Given the description of an element on the screen output the (x, y) to click on. 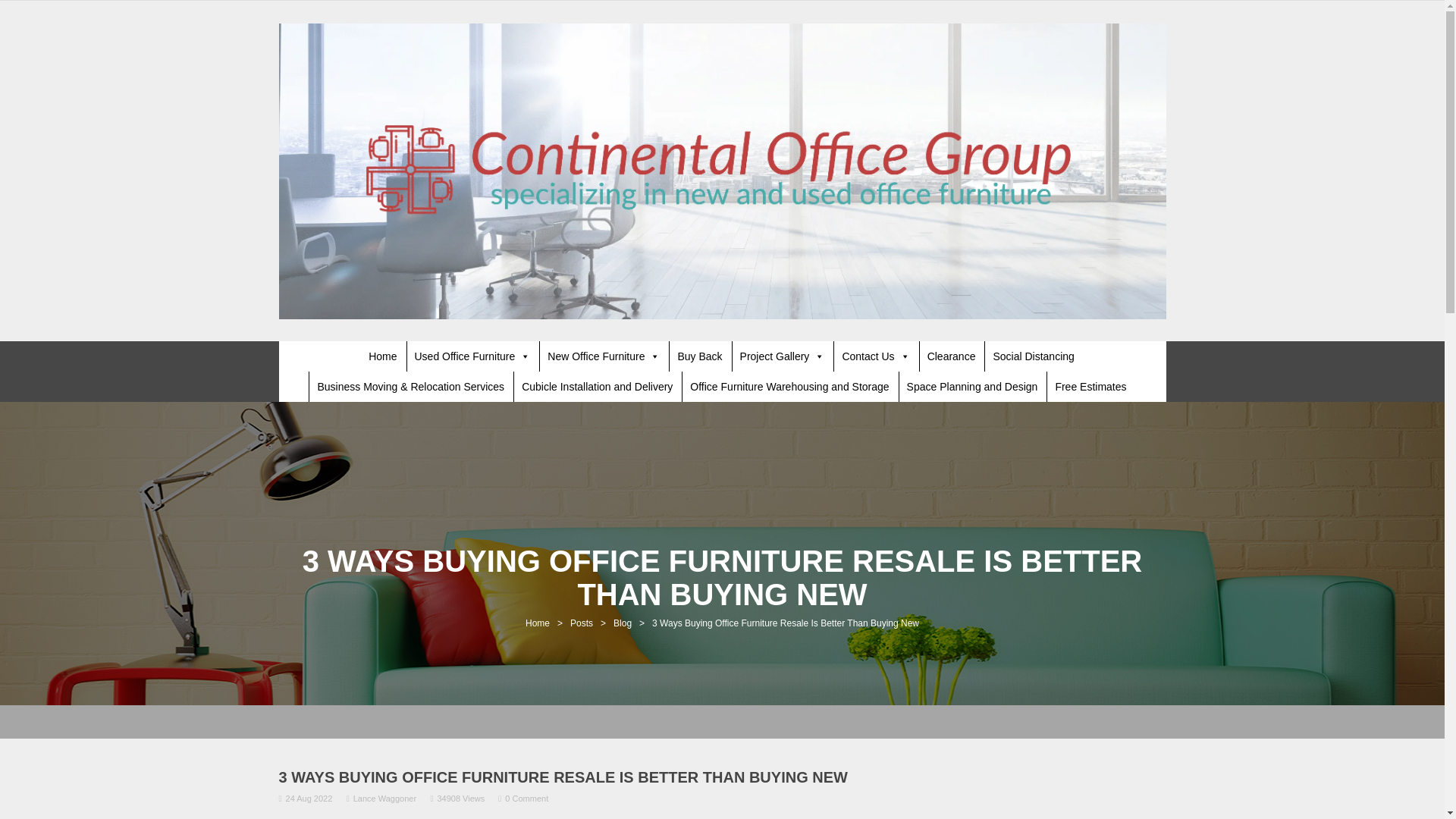
Used Office Furniture (471, 356)
Home (382, 356)
Posts by Lance Waggoner (384, 798)
